Given the description of an element on the screen output the (x, y) to click on. 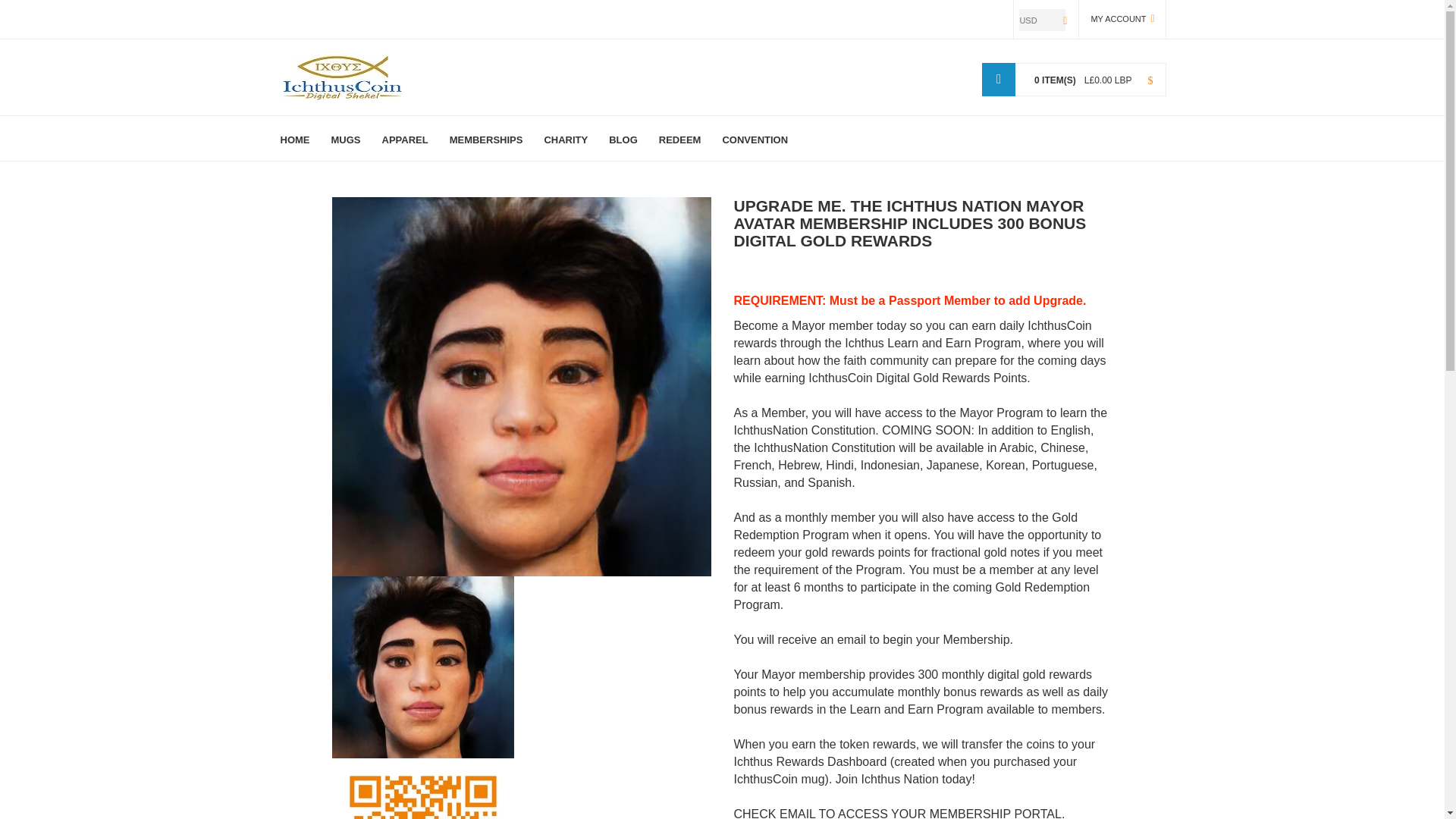
BLOG (622, 138)
MY ACCOUNT (1121, 19)
HOME (299, 138)
REDEEM (679, 138)
MEMBERSHIPS (486, 138)
APPAREL (405, 138)
CONVENTION (754, 138)
MUGS (345, 138)
CHARITY (565, 138)
